Given the description of an element on the screen output the (x, y) to click on. 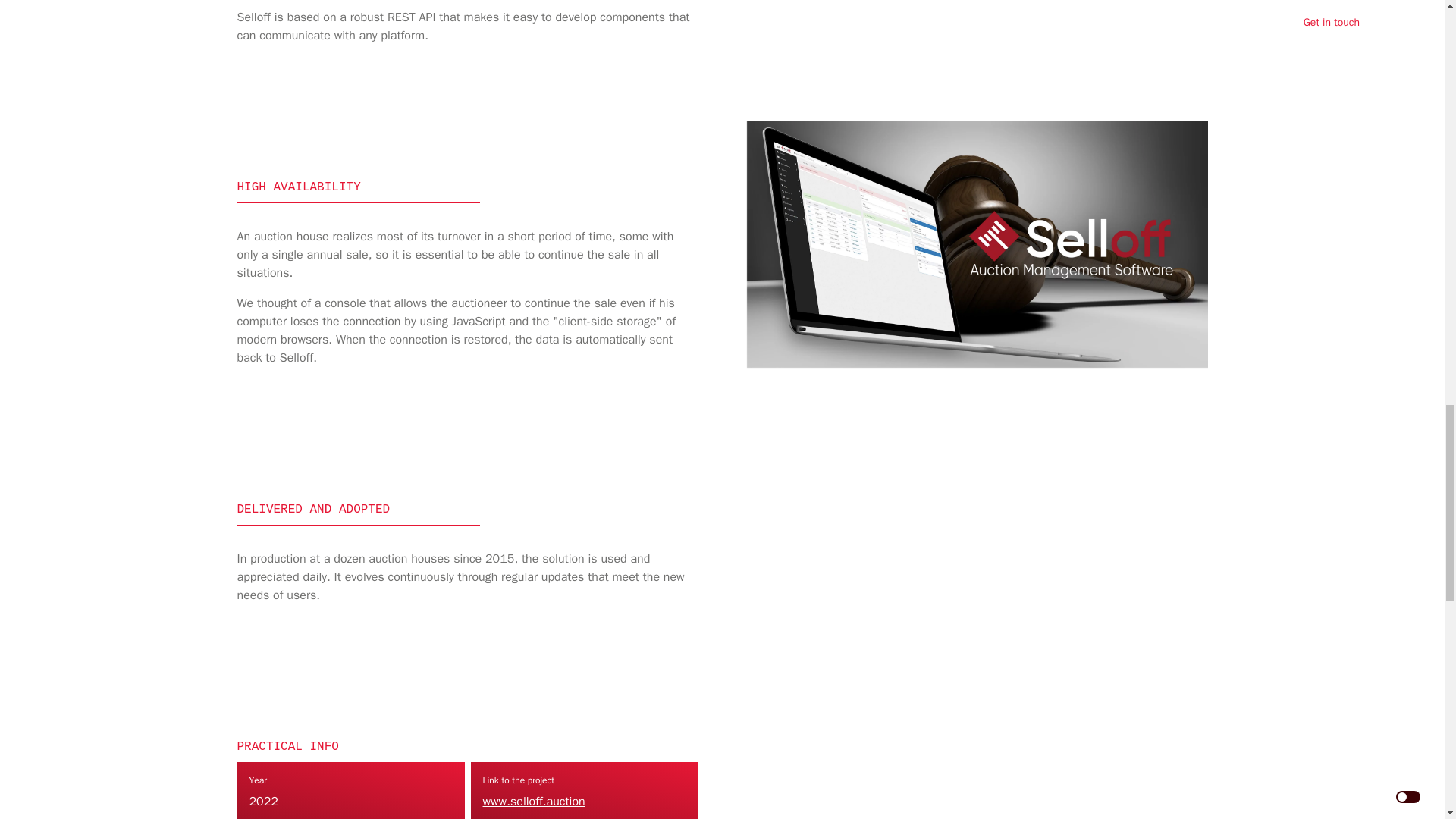
www.selloff.auction (533, 801)
